Given the description of an element on the screen output the (x, y) to click on. 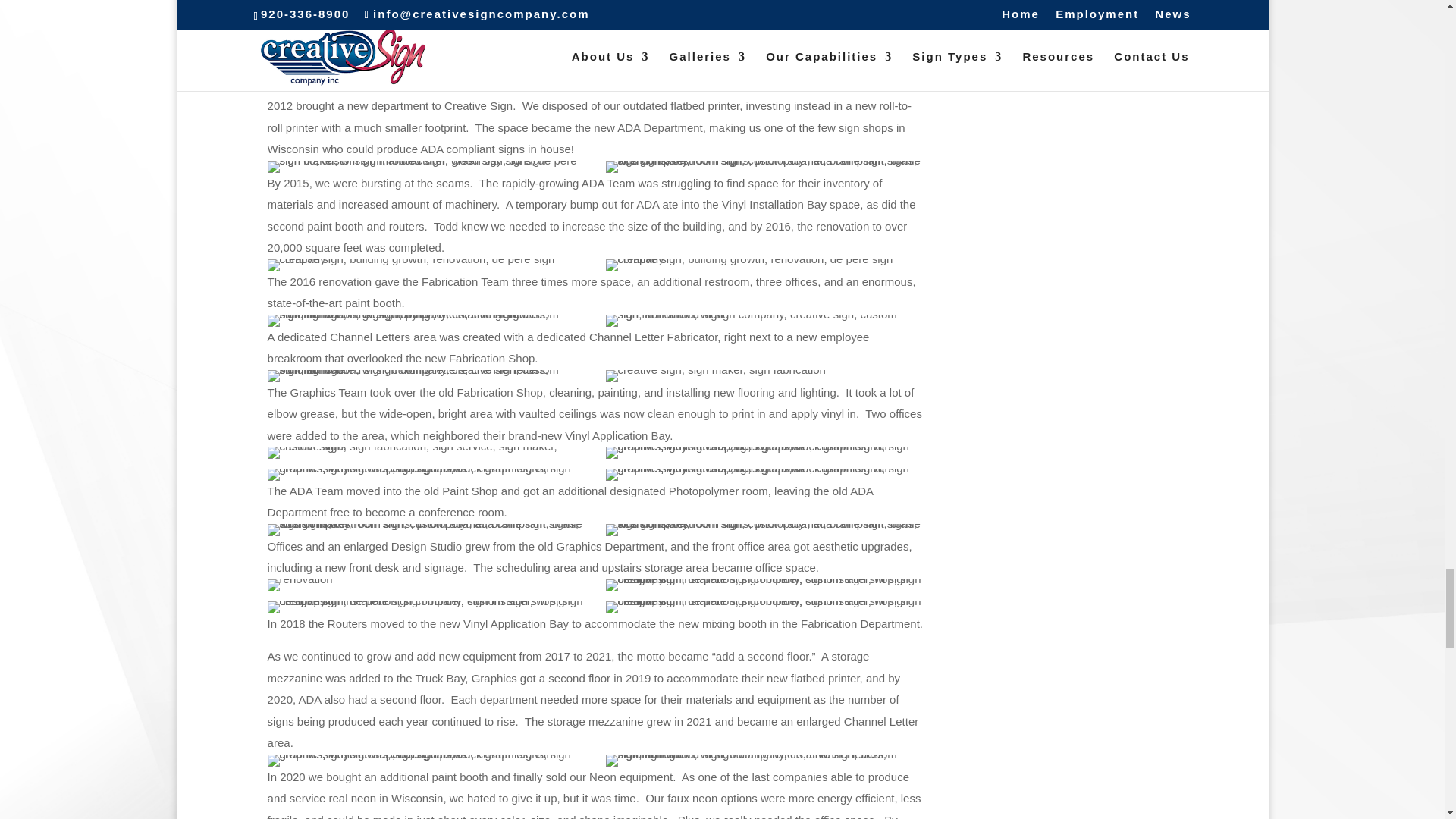
WSA Award Winner (764, 265)
WSA Award Winner (426, 166)
WSA Award Winner (426, 319)
WSA Award Winner (715, 376)
WSA Award Winner (764, 166)
WSA Award Winner (426, 376)
WSA Award Winner (764, 319)
WSA Award Winner (426, 265)
